Given the description of an element on the screen output the (x, y) to click on. 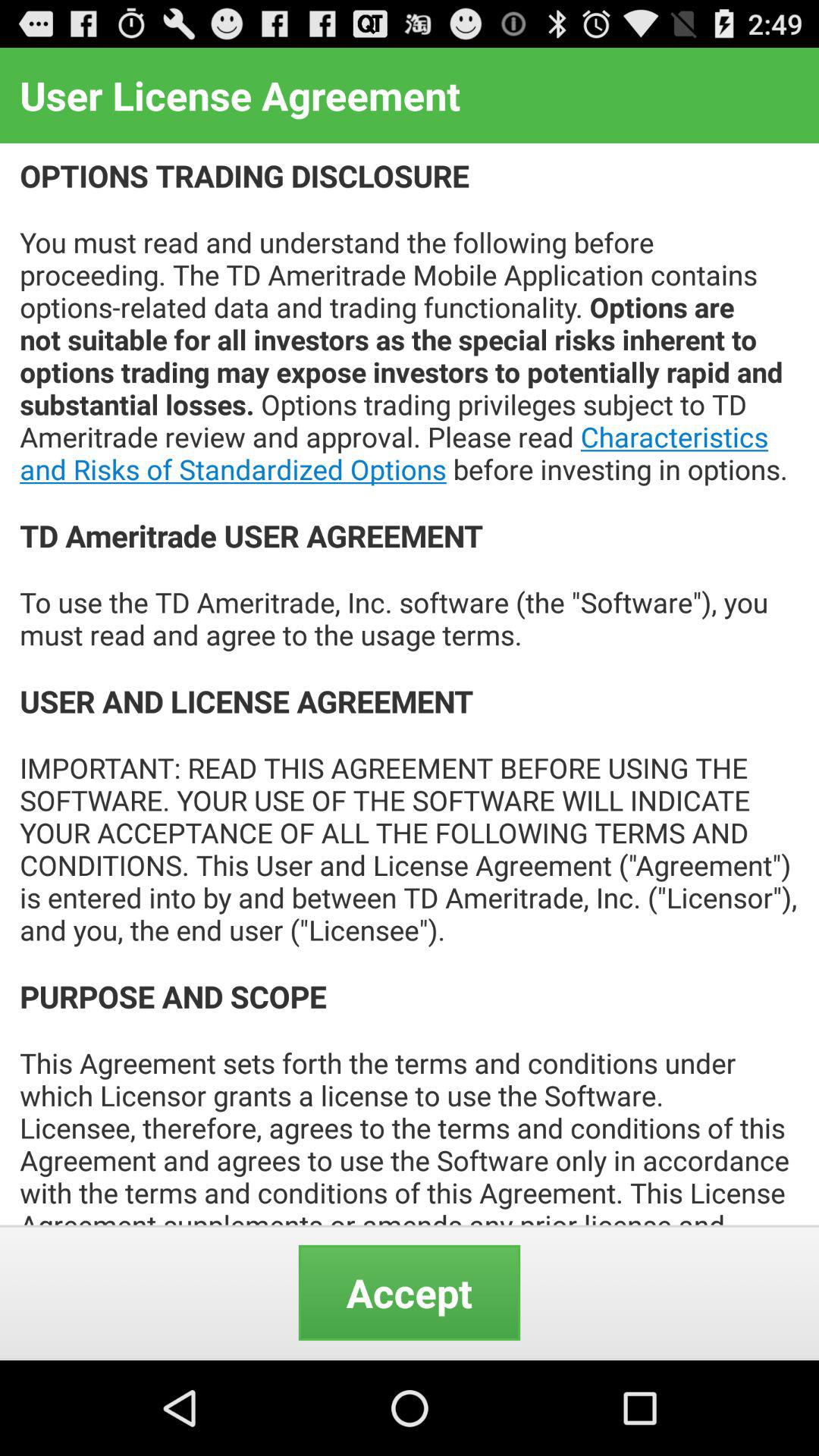
turn on item at the bottom (409, 1292)
